Given the description of an element on the screen output the (x, y) to click on. 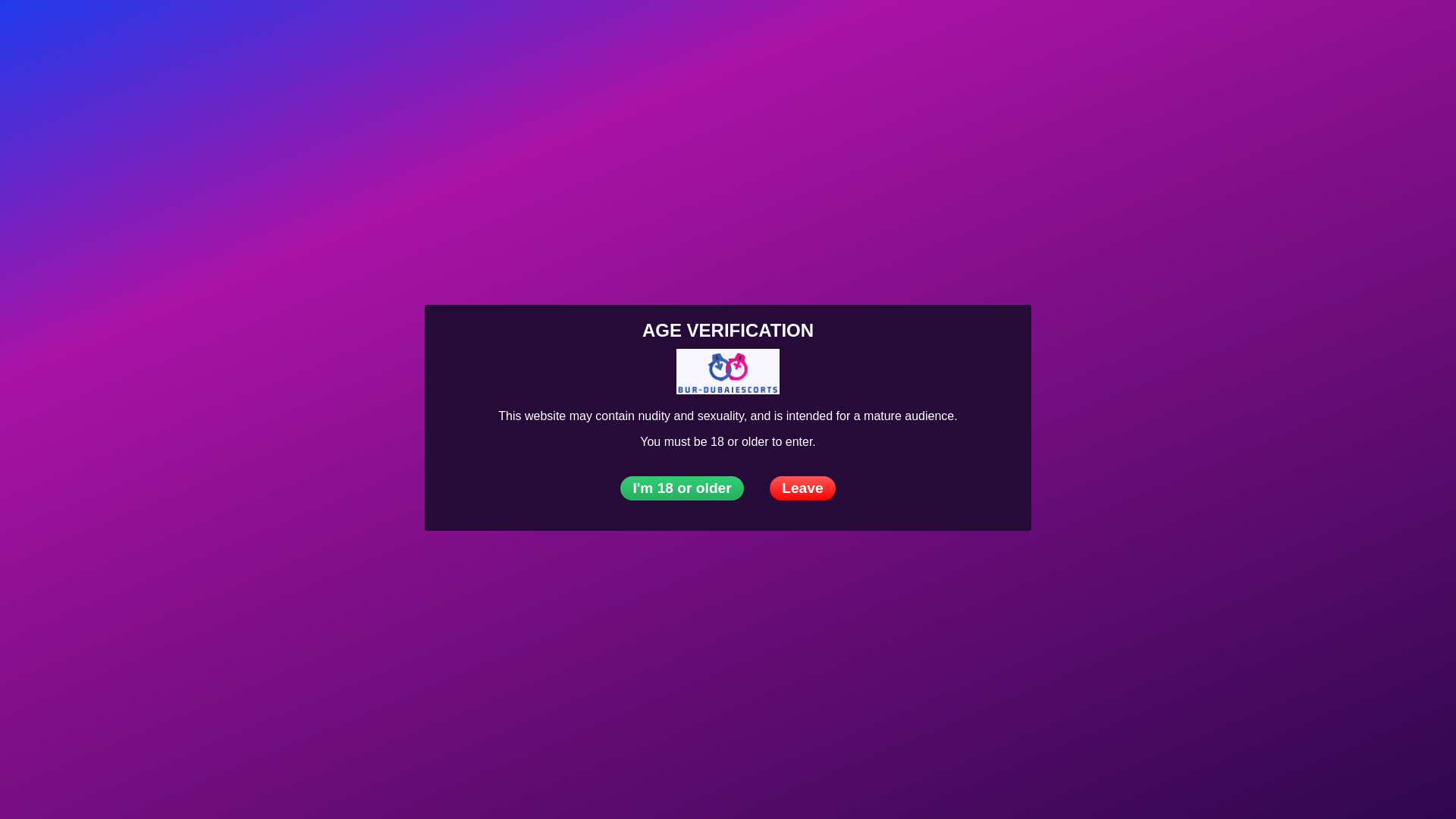
Our Blog (677, 33)
Bur Dubai Escorts (152, 33)
Escort Reviews (483, 33)
Escorts (212, 33)
Escorts on Tour (374, 33)
Contact Us (1427, 31)
Search (1395, 31)
Classified Ads (590, 33)
Agencies (280, 33)
Contact Us (754, 33)
